Given the description of an element on the screen output the (x, y) to click on. 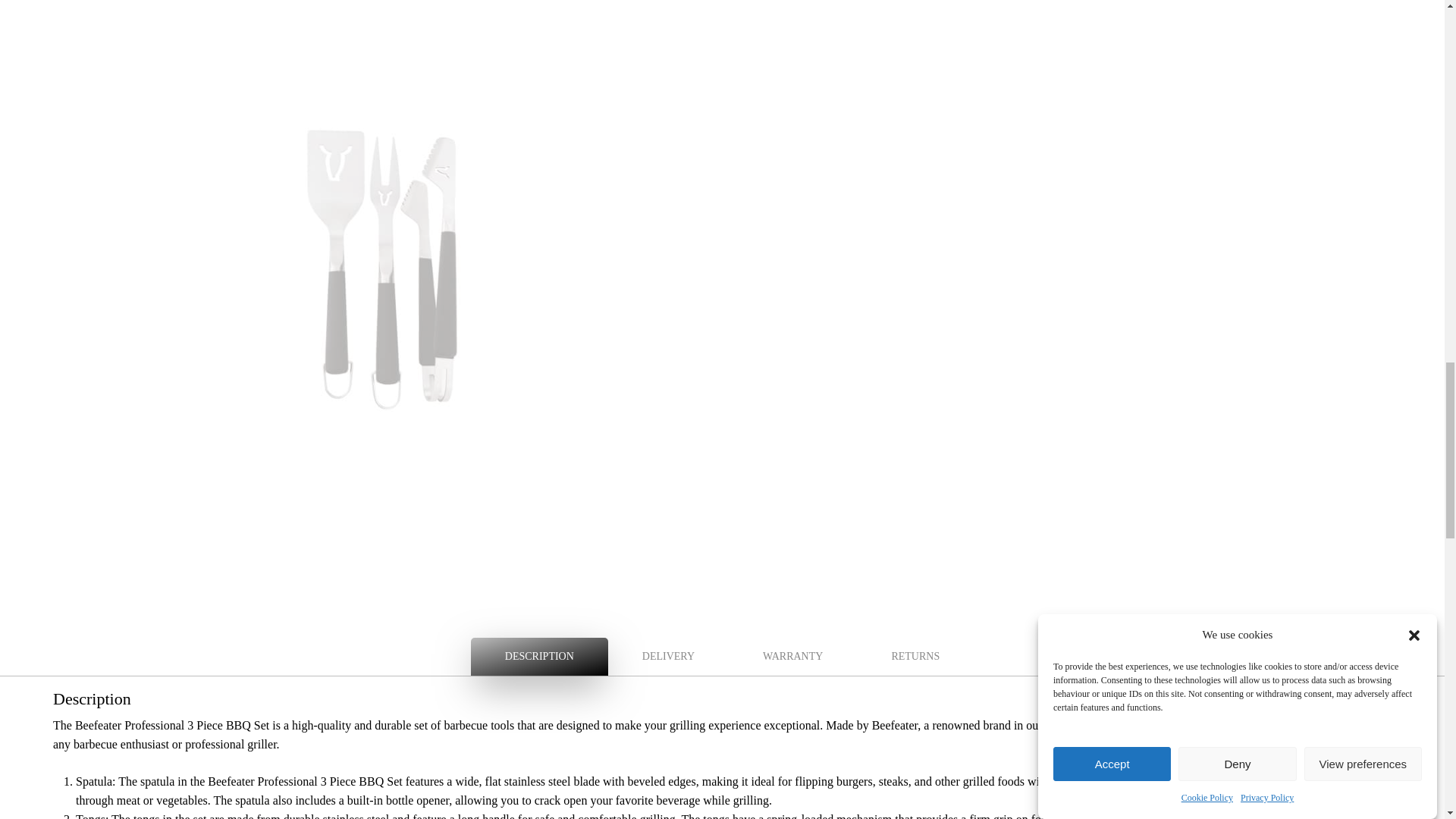
3-PIECE-BBQ-SET (387, 37)
